Given the description of an element on the screen output the (x, y) to click on. 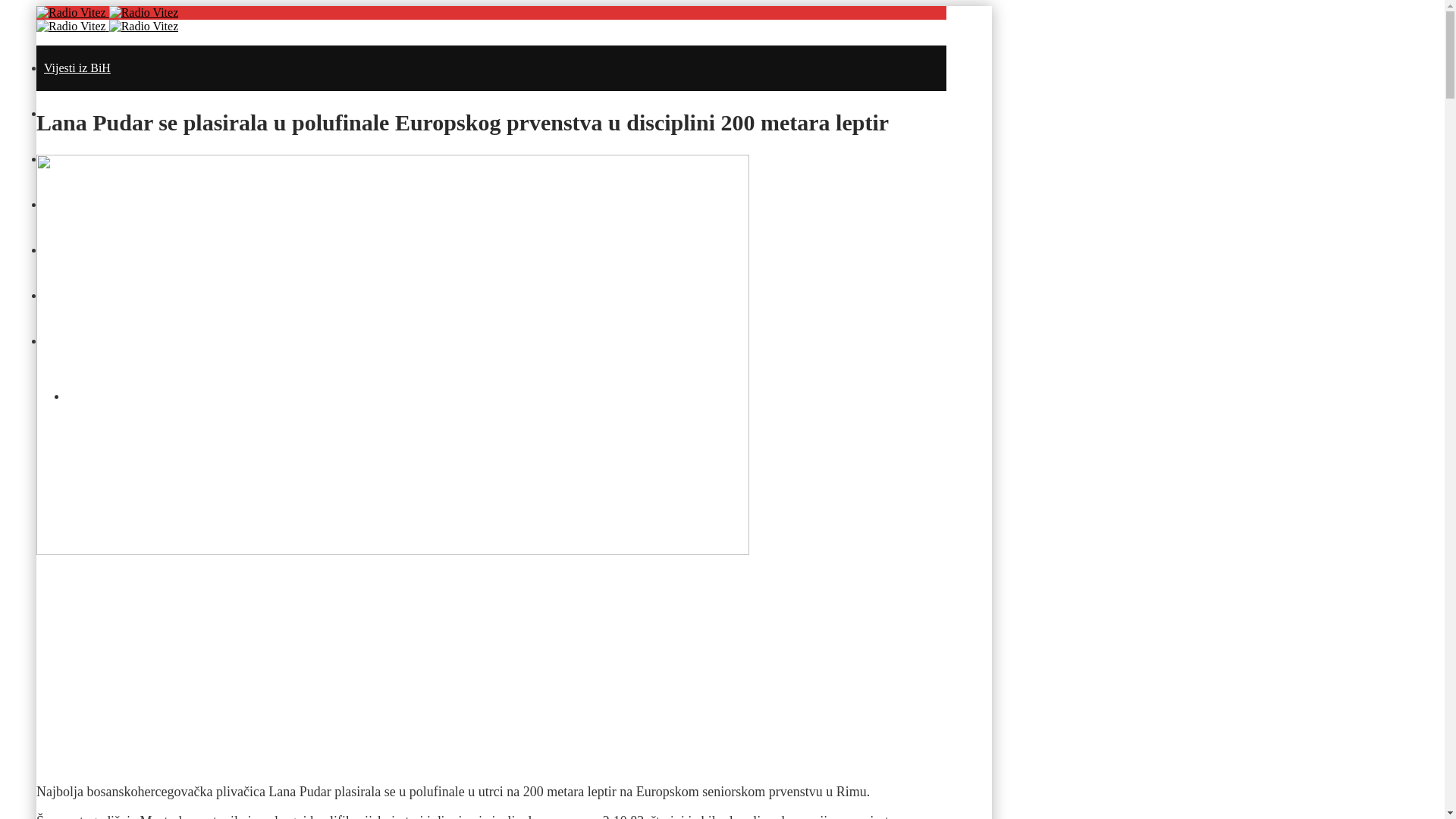
Svijet Element type: text (57, 249)
Regionalne vijesti Element type: text (87, 158)
Zanimljivosti Element type: text (76, 203)
Lokalne vijesti Element type: text (79, 112)
Vijesti iz BiH Element type: text (76, 67)
Glazba Element type: text (60, 340)
Advertisement Element type: hover (491, 664)
Sport Element type: text (56, 294)
